Given the description of an element on the screen output the (x, y) to click on. 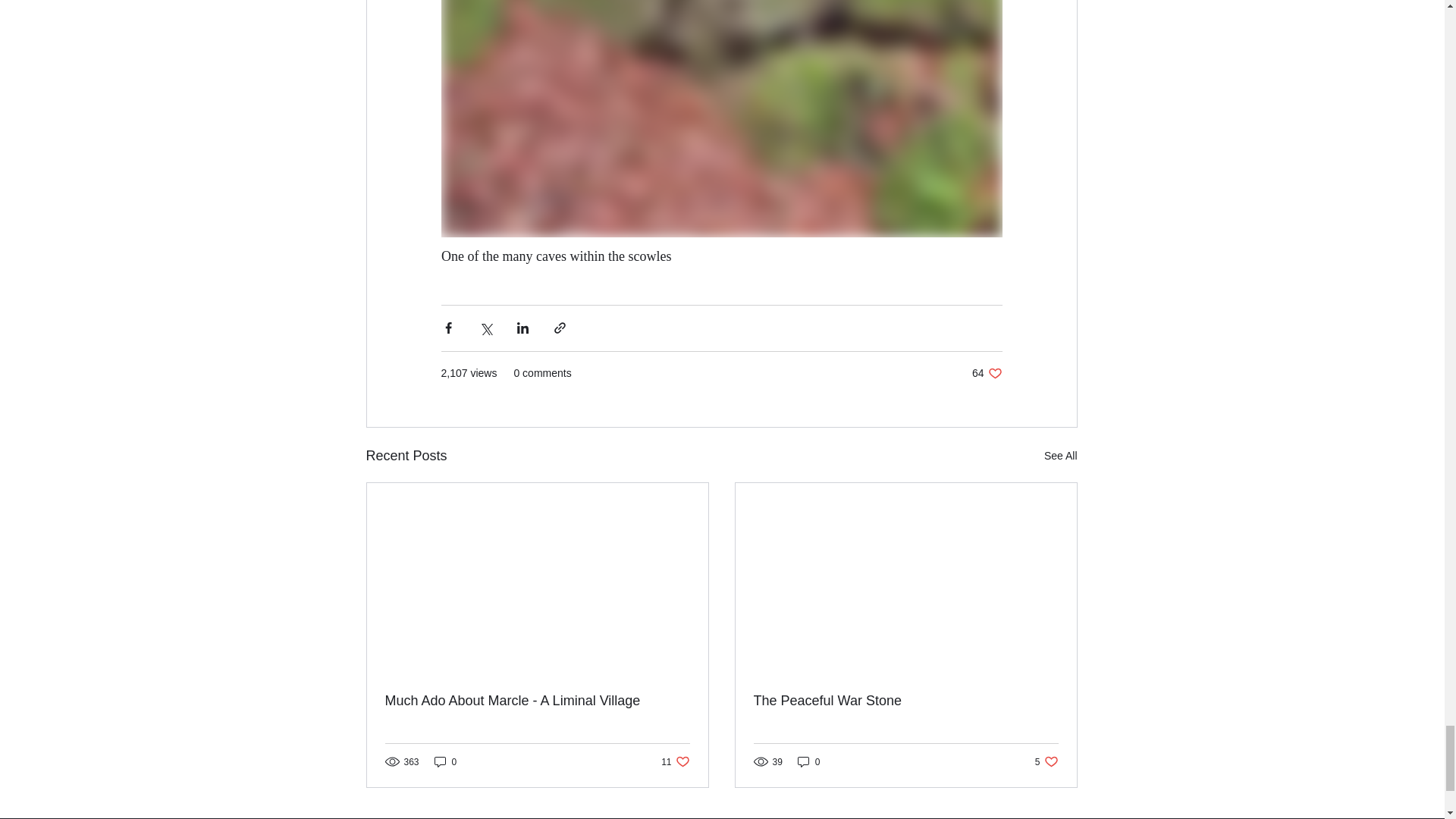
See All (1060, 455)
The Peaceful War Stone (906, 700)
0 (809, 761)
Much Ado About Marcle - A Liminal Village (1046, 761)
0 (537, 700)
